Given the description of an element on the screen output the (x, y) to click on. 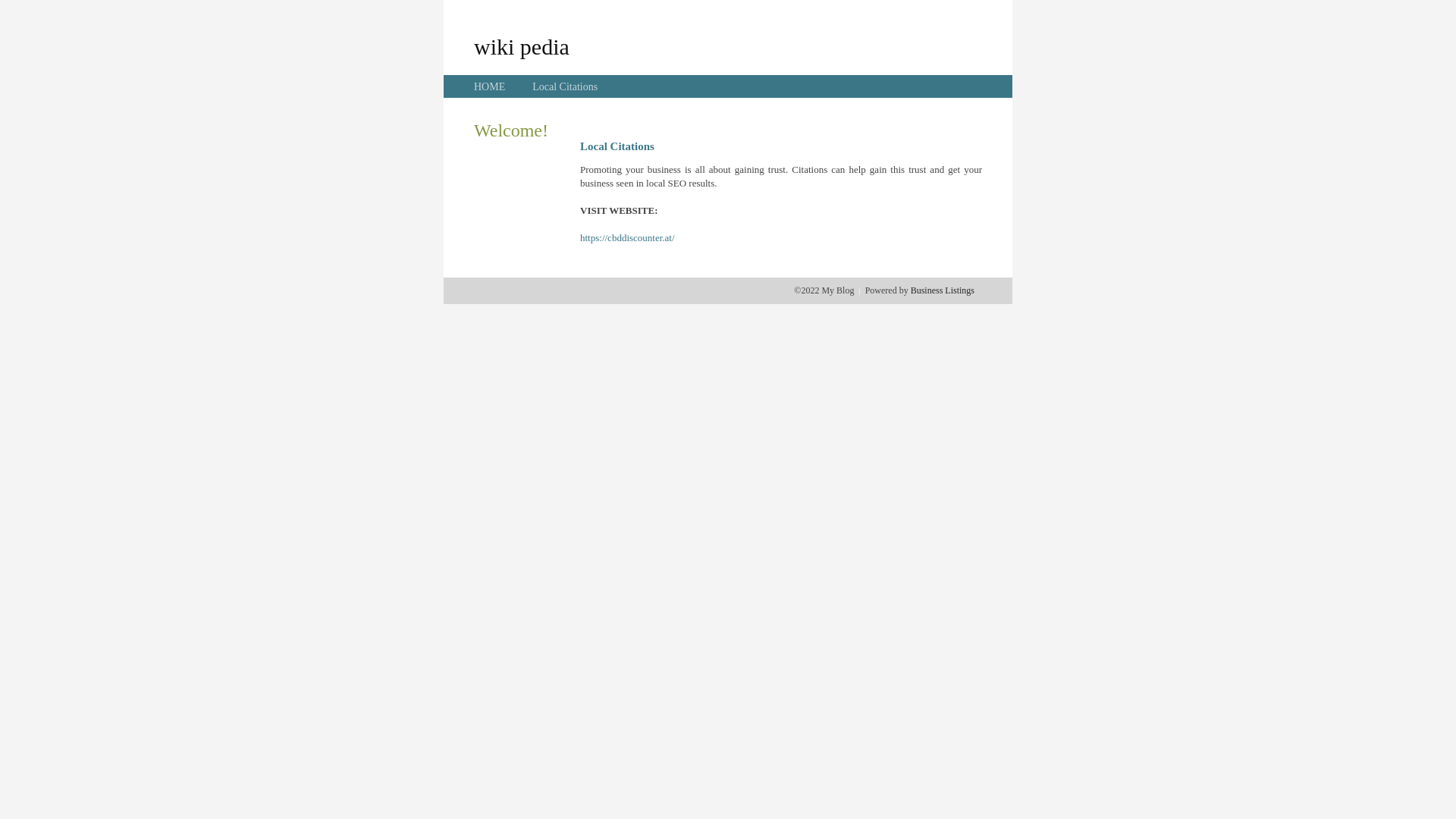
https://cbddiscounter.at/ Element type: text (627, 237)
Local Citations Element type: text (564, 86)
HOME Element type: text (489, 86)
Business Listings Element type: text (942, 290)
wiki pedia Element type: text (521, 46)
